Given the description of an element on the screen output the (x, y) to click on. 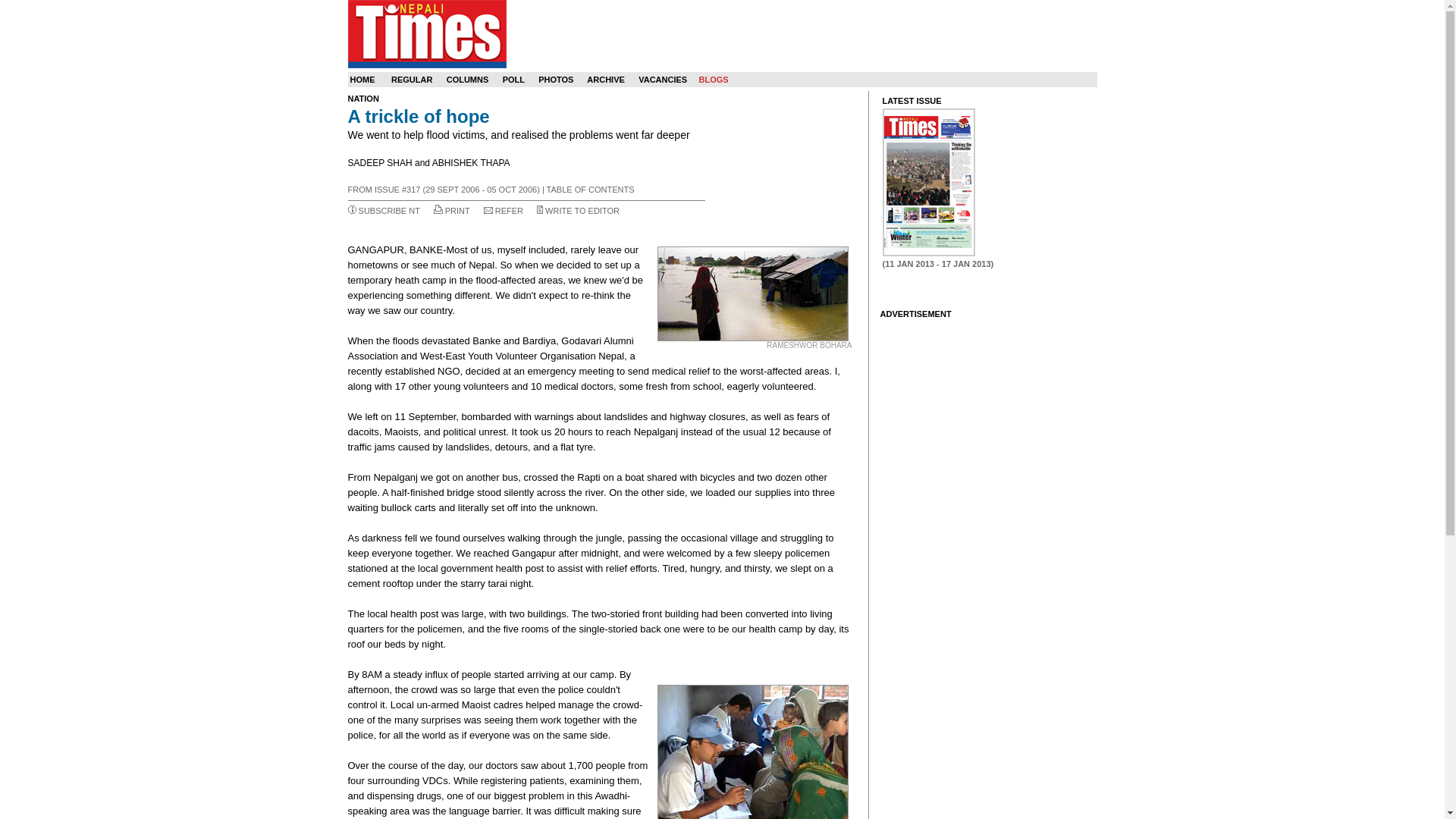
POLL (513, 79)
REGULAR (411, 79)
WRITE TO EDITOR (582, 210)
BLOGS (713, 79)
REFER (508, 210)
TABLE OF CONTENTS (590, 189)
ARCHIVE (605, 79)
VACANCIES (663, 79)
HOME (362, 79)
Nepali Times (426, 33)
PRINT (458, 210)
PHOTOS (555, 79)
COLUMNS (467, 79)
SUBSCRIBE NT (389, 210)
